Given the description of an element on the screen output the (x, y) to click on. 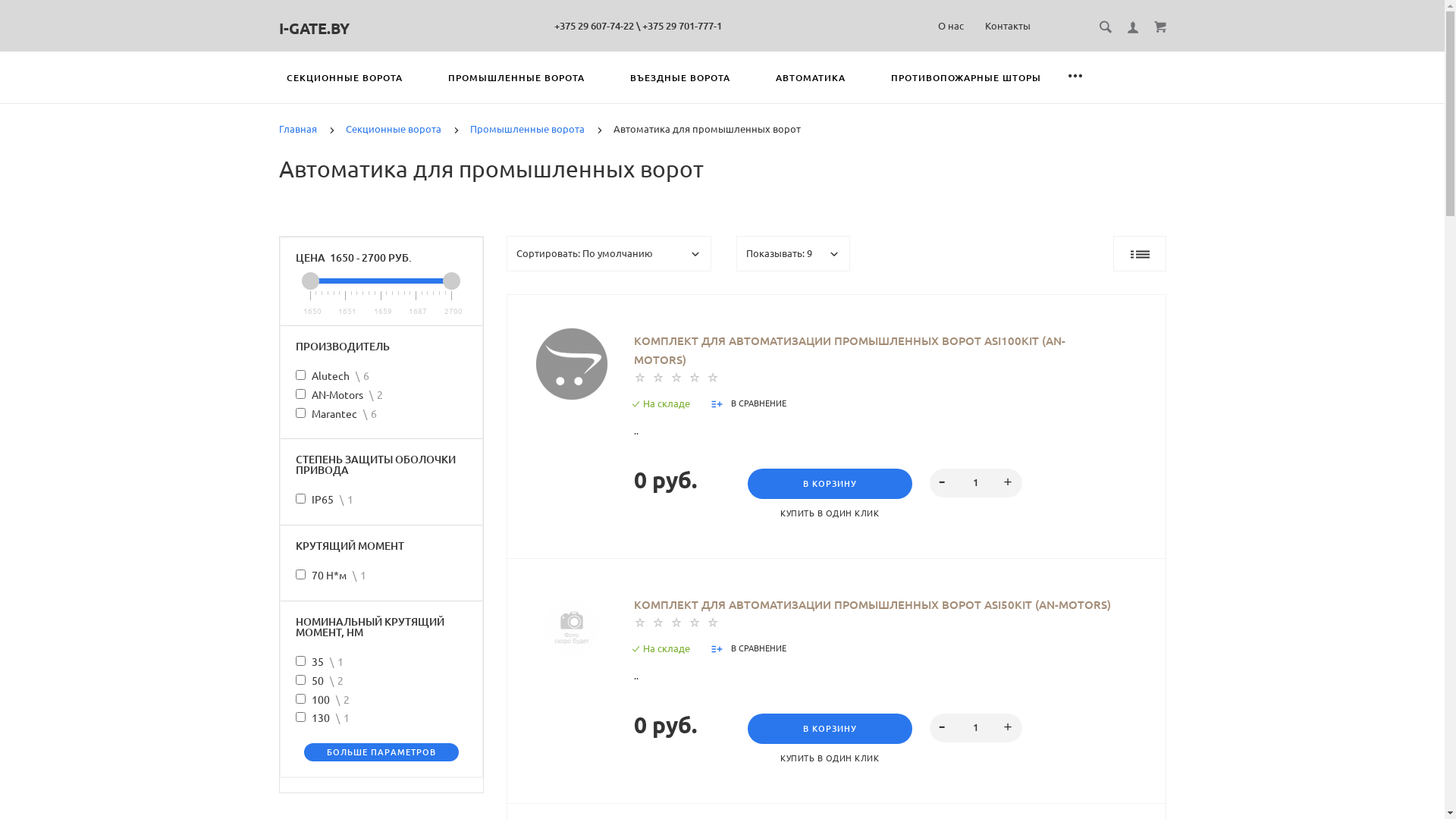
+375 29 701-777-1 Element type: text (681, 25)
I-GATE.BY Element type: text (314, 28)
+375 29 607-74-22 Element type: text (593, 25)
